Given the description of an element on the screen output the (x, y) to click on. 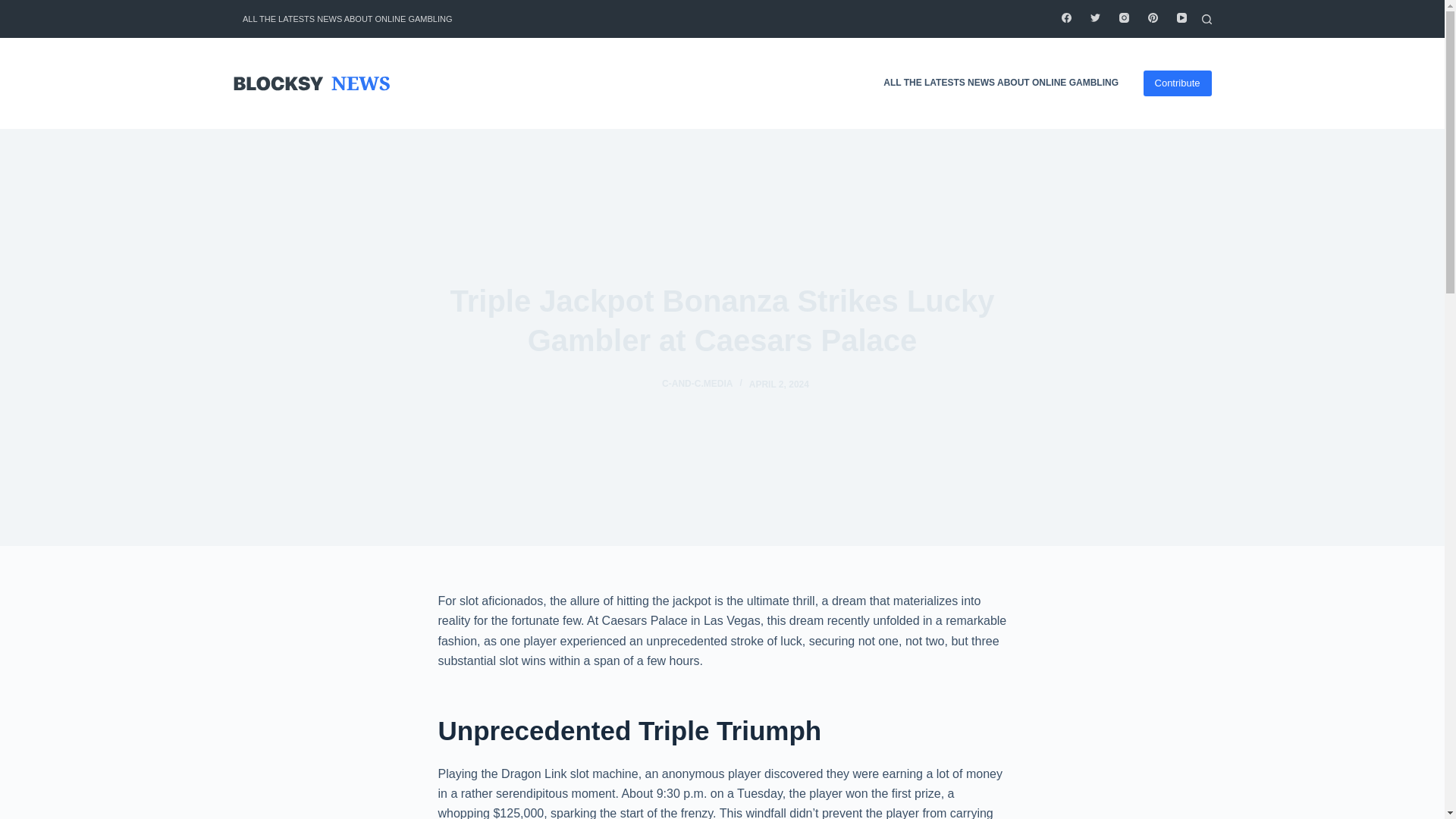
Skip to content (15, 7)
Contribute (1176, 83)
C-AND-C.MEDIA (697, 383)
Posts by c-and-c.media (697, 383)
ALL THE LATESTS NEWS ABOUT ONLINE GAMBLING (1001, 82)
ALL THE LATESTS NEWS ABOUT ONLINE GAMBLING (347, 18)
